Given the description of an element on the screen output the (x, y) to click on. 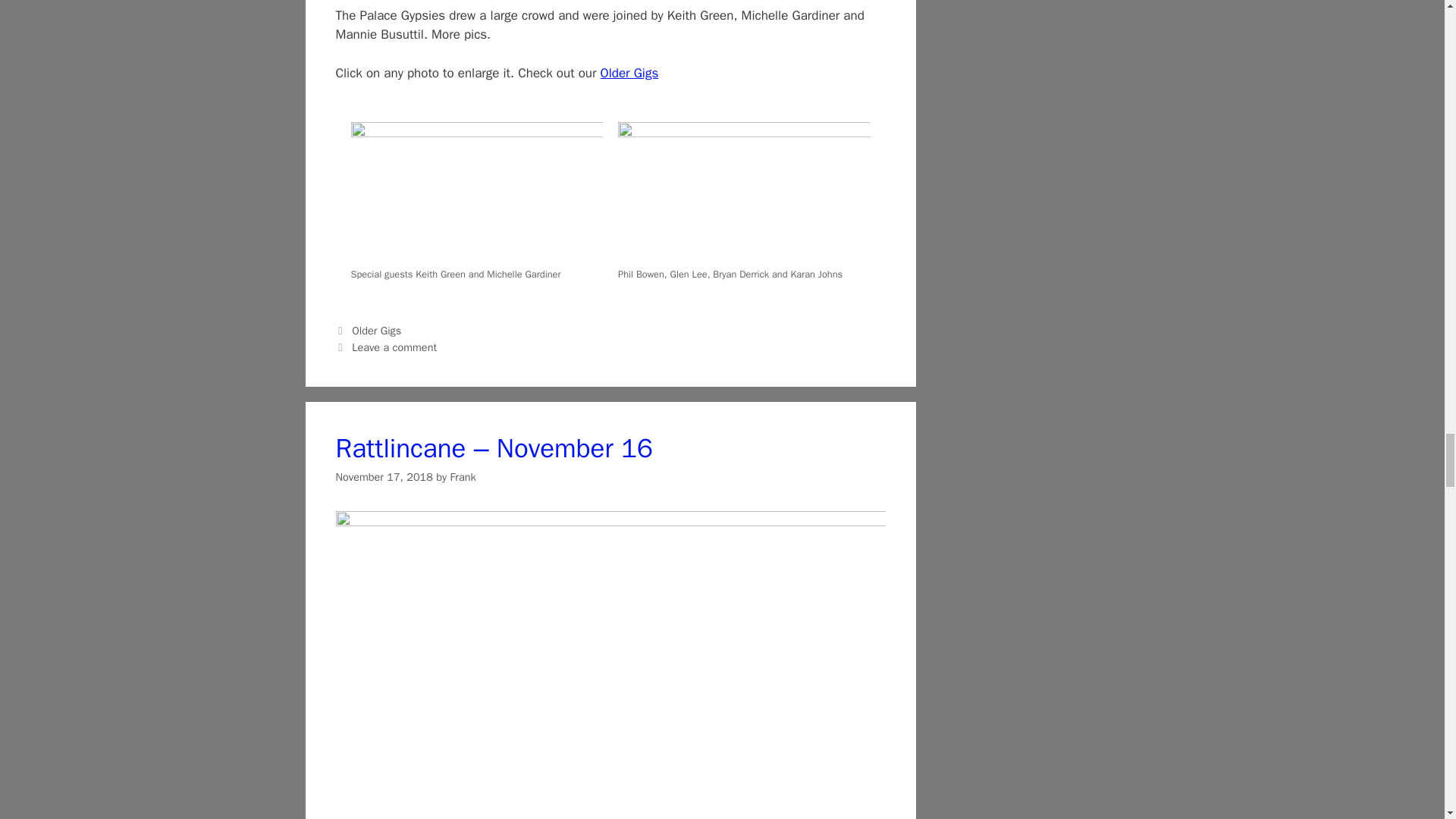
View all posts by Frank (462, 477)
